Given the description of an element on the screen output the (x, y) to click on. 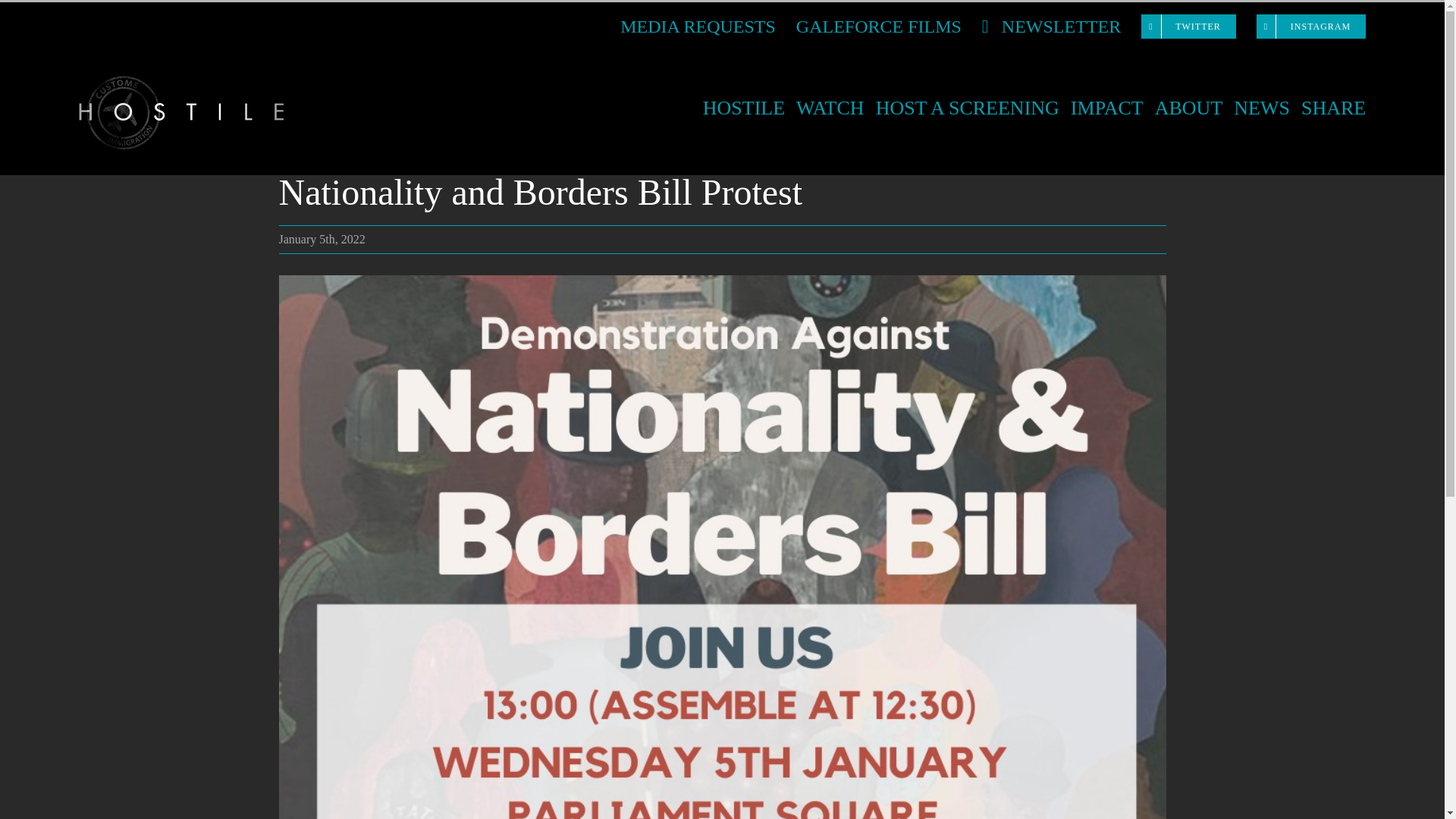
TWITTER (1188, 26)
MEDIA REQUESTS (698, 26)
INSTAGRAM (1310, 26)
GALEFORCE FILMS (878, 26)
NEWSLETTER (1051, 26)
HOST A SCREENING (967, 108)
